Given the description of an element on the screen output the (x, y) to click on. 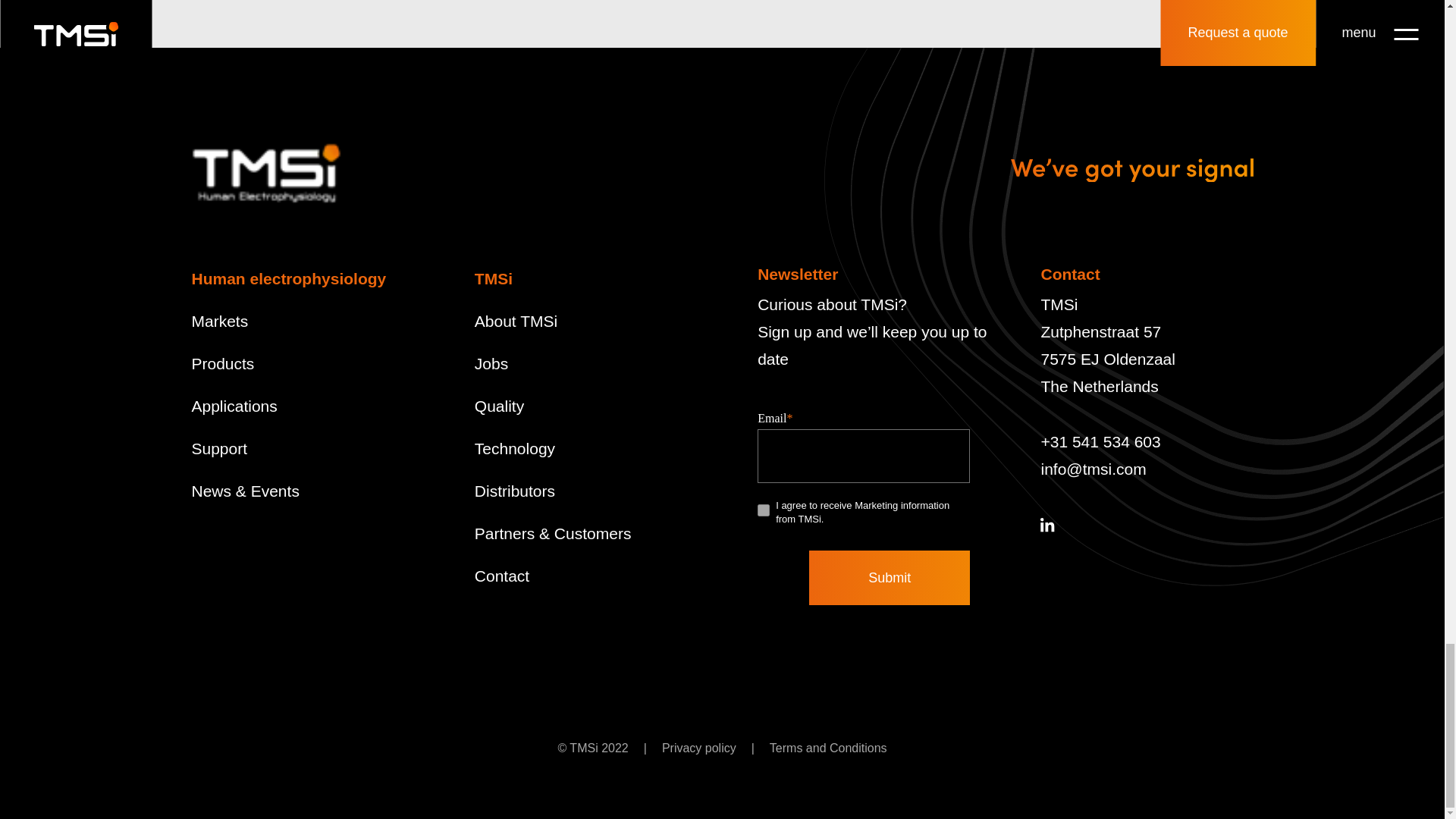
Quality (499, 405)
true (763, 510)
Jobs (491, 363)
Human electrophysiology (287, 278)
Products (221, 363)
Applications (233, 405)
Submit (889, 577)
Markets (218, 321)
TMSi (493, 278)
About TMSi (515, 321)
TMSi (265, 173)
Support (218, 448)
